Given the description of an element on the screen output the (x, y) to click on. 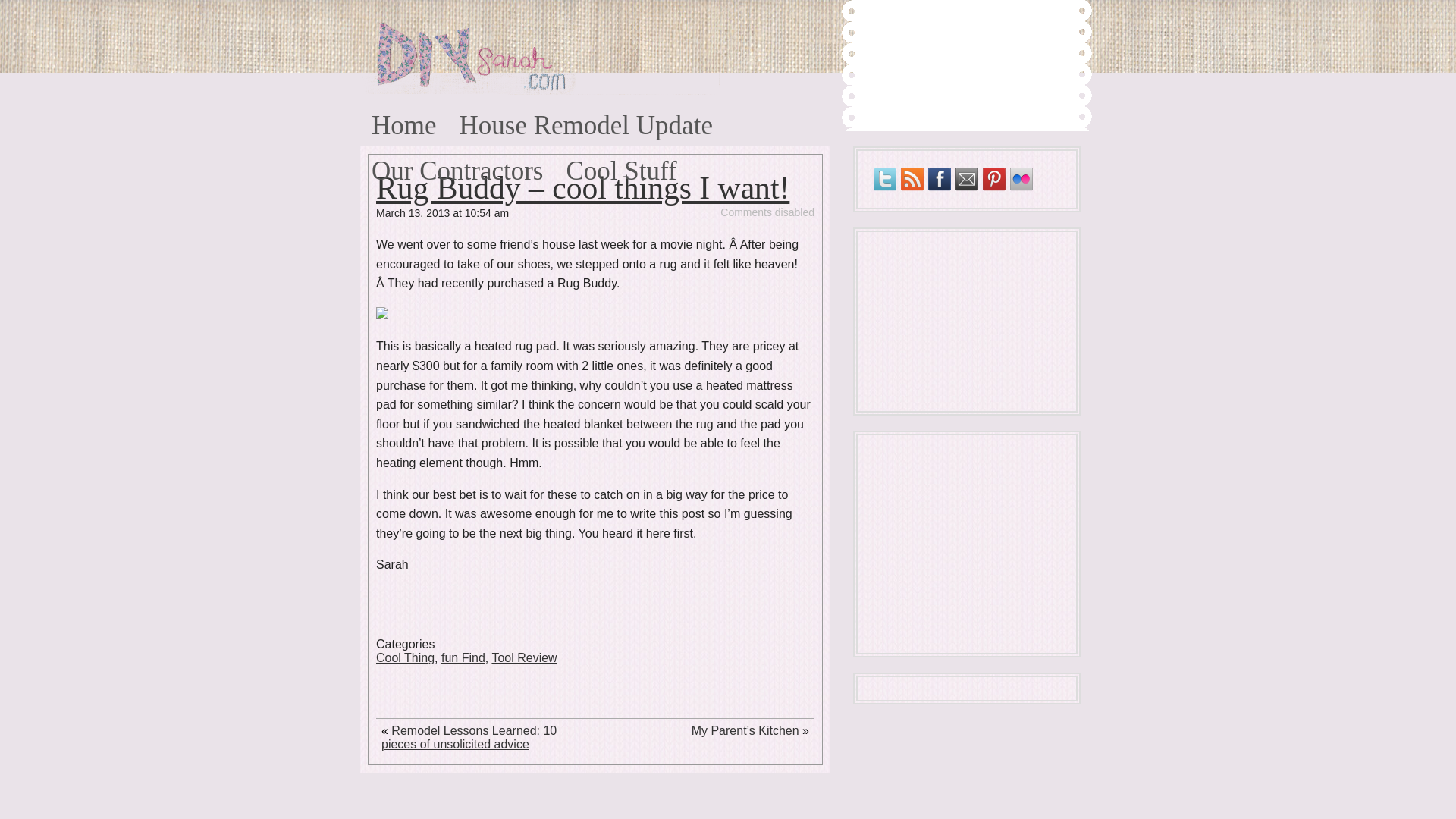
House Remodel Update (585, 119)
Cool Stuff (620, 165)
Our Contractors (456, 165)
DIY Sarah (424, 36)
Home (403, 119)
Cool Thing (404, 657)
DIY Sarah (424, 36)
Tool Review (524, 657)
fun Find (462, 657)
Remodel Lessons Learned: 10 pieces of unsolicited advice (468, 737)
